Given the description of an element on the screen output the (x, y) to click on. 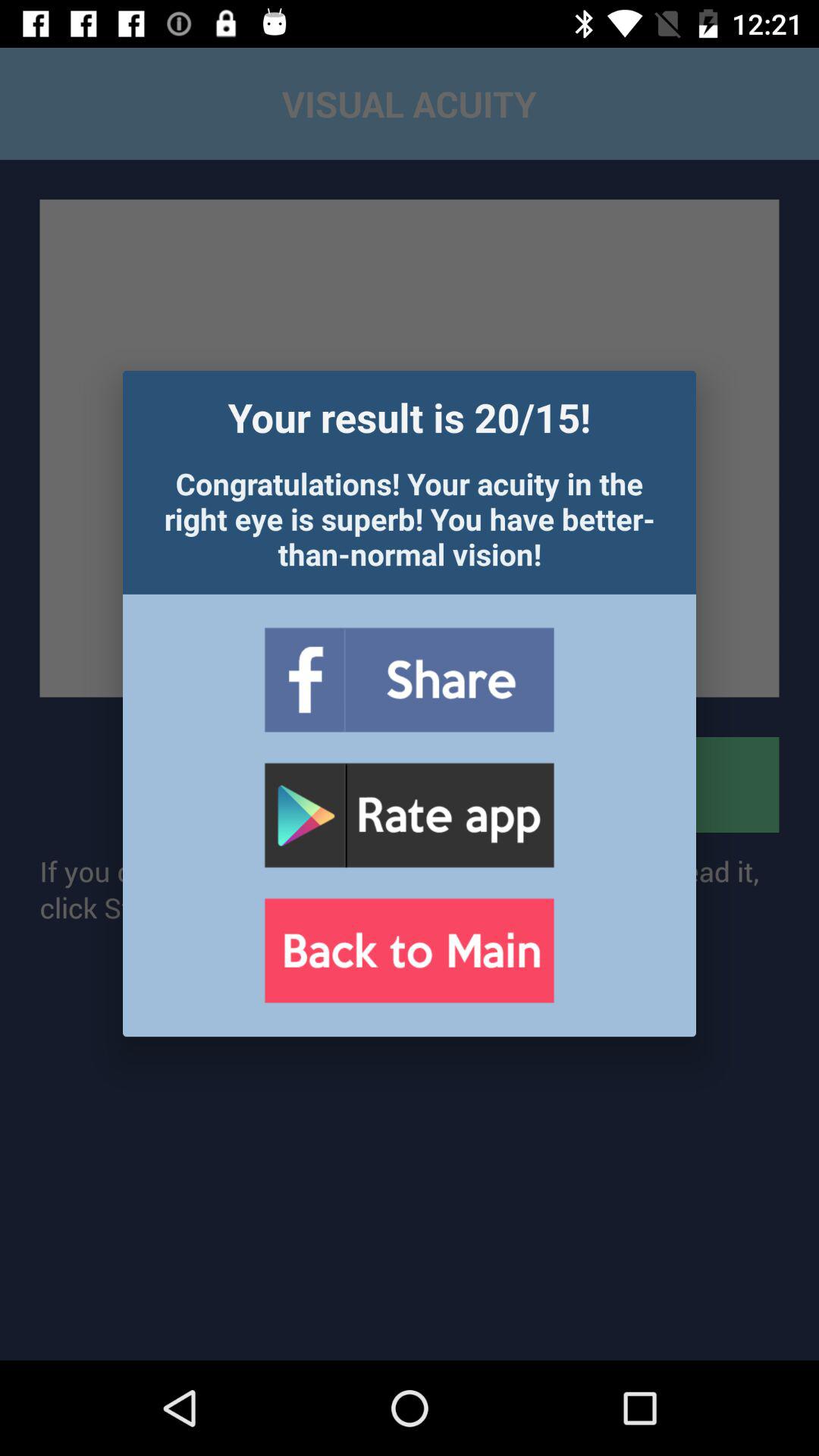
add rating (408, 815)
